Given the description of an element on the screen output the (x, y) to click on. 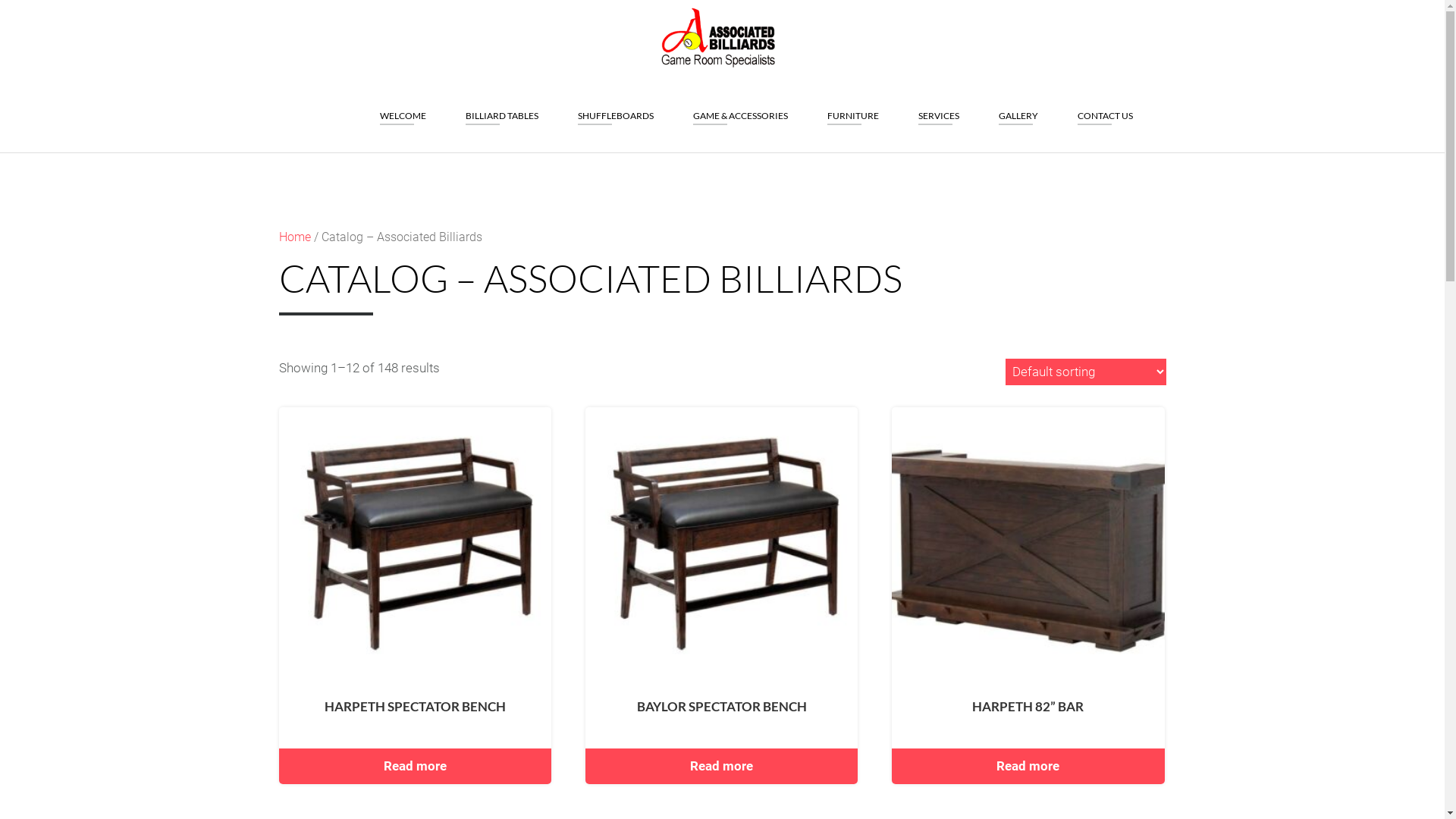
Read more Element type: text (721, 766)
Home Element type: text (294, 237)
WELCOME Element type: text (402, 107)
HARPETH SPECTATOR BENCH Element type: text (415, 564)
SHUFFLEBOARDS Element type: text (615, 107)
FURNITURE Element type: text (852, 107)
BILLIARD TABLES Element type: text (501, 107)
Read more Element type: text (415, 766)
SERVICES Element type: text (937, 107)
Read more Element type: text (1027, 766)
BAYLOR SPECTATOR BENCH Element type: text (721, 564)
CONTACT US Element type: text (1104, 107)
GAME & ACCESSORIES Element type: text (740, 107)
GALLERY Element type: text (1017, 107)
